Given the description of an element on the screen output the (x, y) to click on. 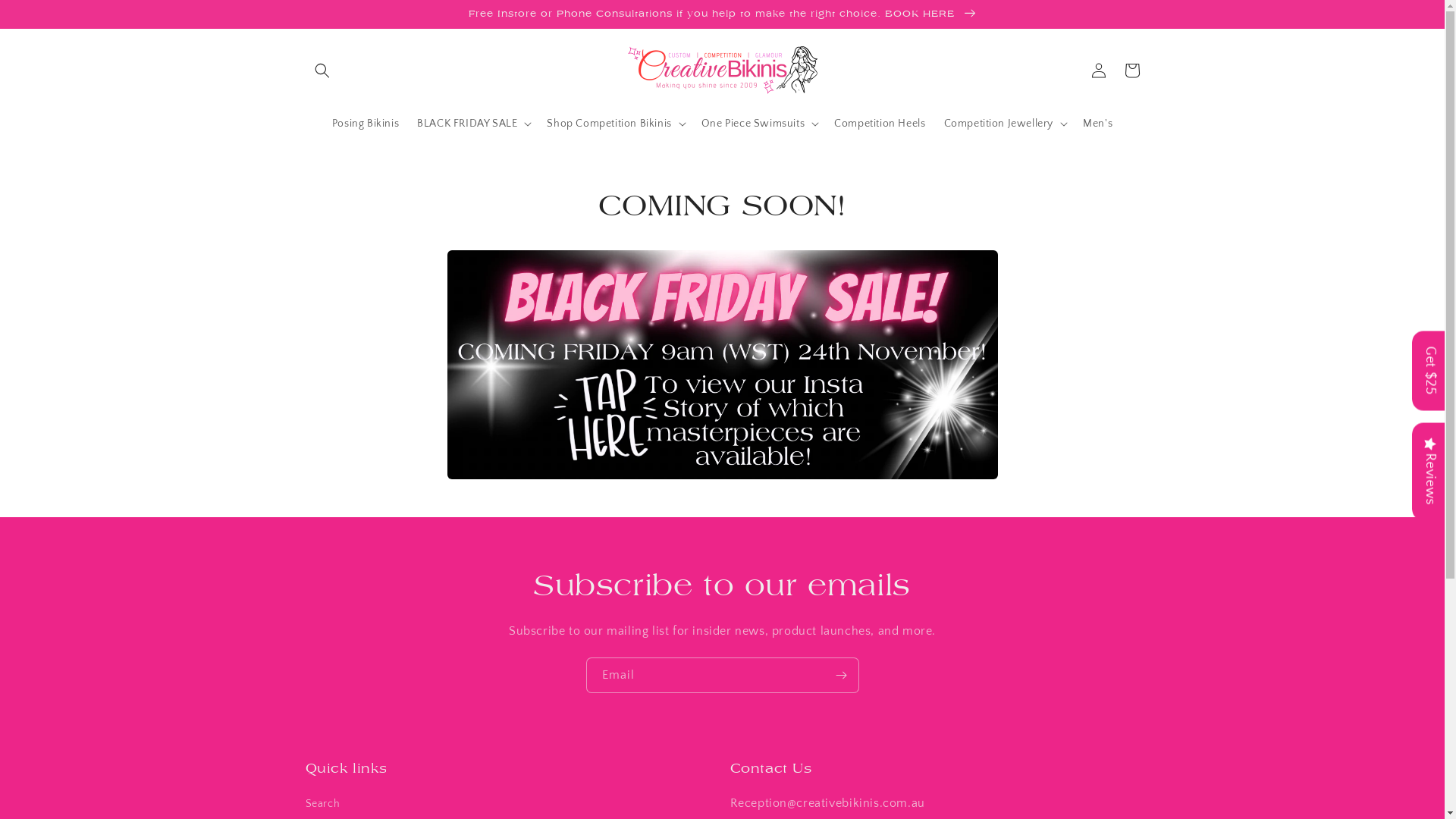
Men's Element type: text (1097, 123)
Cart Element type: text (1131, 70)
Posing Bikinis Element type: text (365, 123)
Competition Heels Element type: text (879, 123)
Log in Element type: text (1097, 70)
Search Element type: text (321, 805)
